Given the description of an element on the screen output the (x, y) to click on. 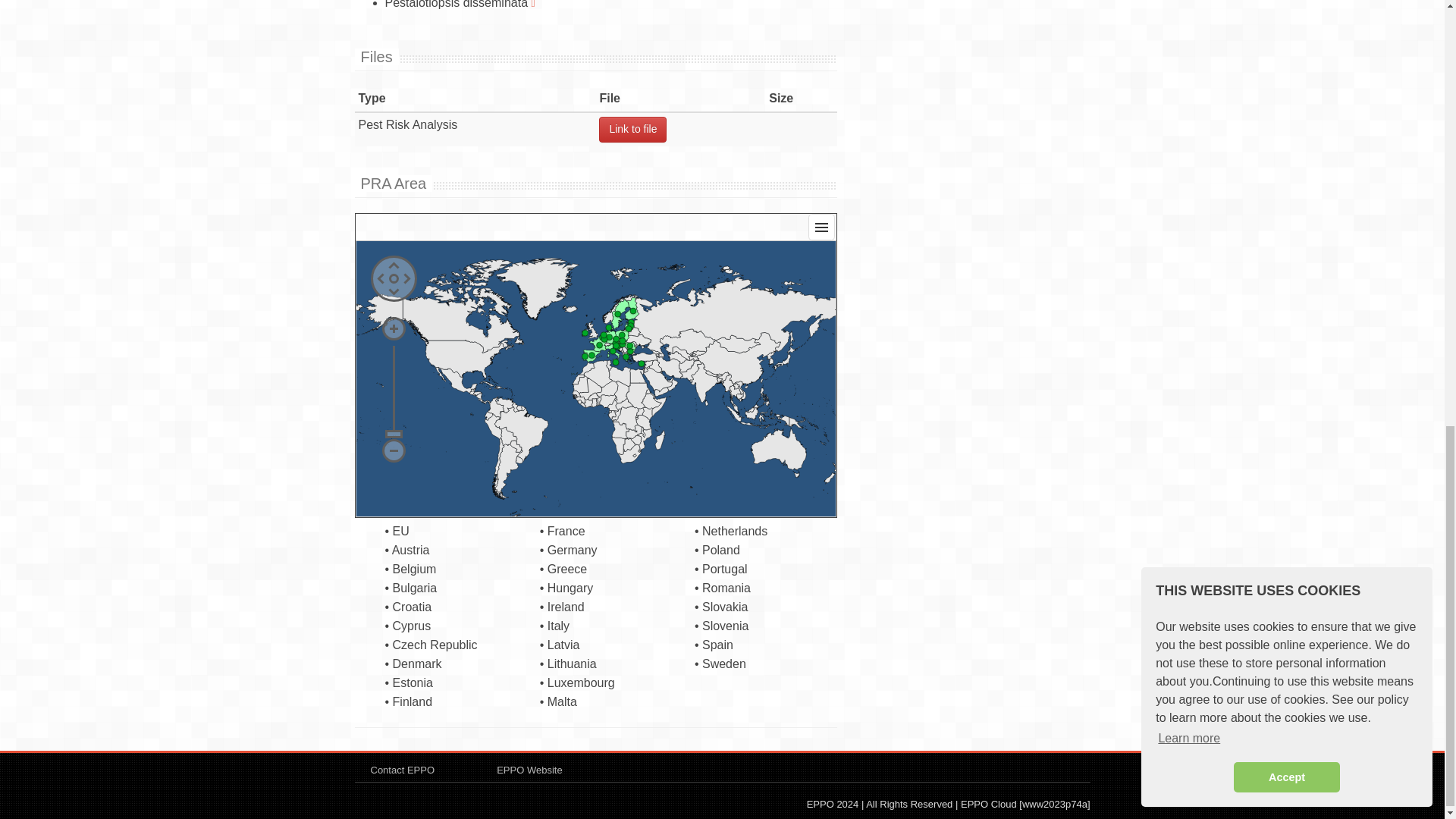
link (632, 129)
Link to file (632, 129)
EPPO Website (529, 769)
Contact EPPO (401, 769)
